Given the description of an element on the screen output the (x, y) to click on. 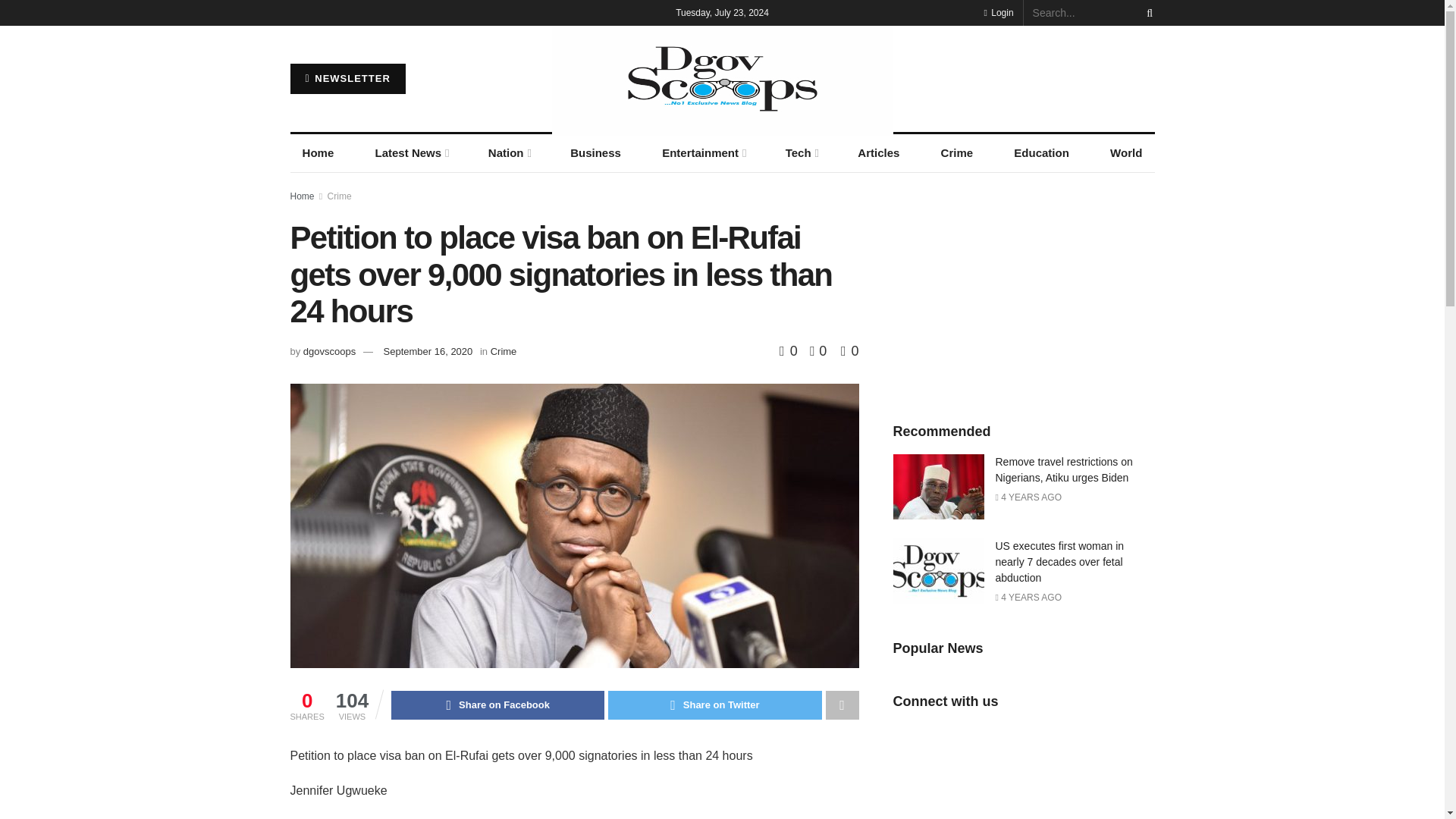
Business (595, 152)
Tech (801, 152)
Advertisement (1023, 289)
Home (317, 152)
Entertainment (703, 152)
Education (1041, 152)
NEWSLETTER (346, 78)
Latest News (410, 152)
Articles (878, 152)
Login (998, 12)
Crime (956, 152)
Nation (508, 152)
World (1125, 152)
